Given the description of an element on the screen output the (x, y) to click on. 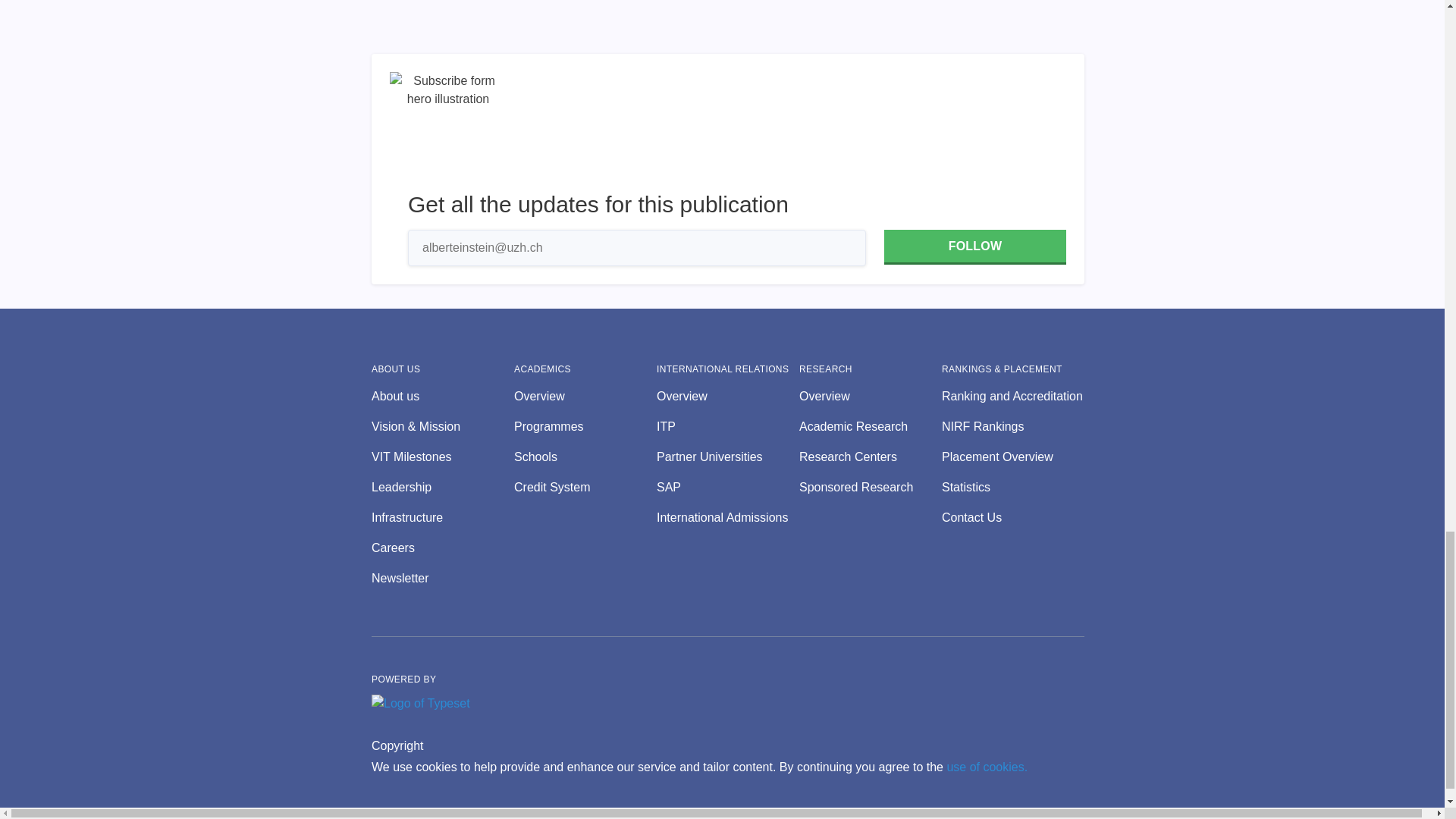
Newsletter (442, 578)
Schools (584, 456)
Overview (584, 396)
VIT Milestones (442, 456)
FOLLOW (974, 247)
Infrastructure (442, 517)
About us (442, 396)
Logo of Typeset (420, 703)
Programmes (584, 426)
Careers (442, 547)
